Given the description of an element on the screen output the (x, y) to click on. 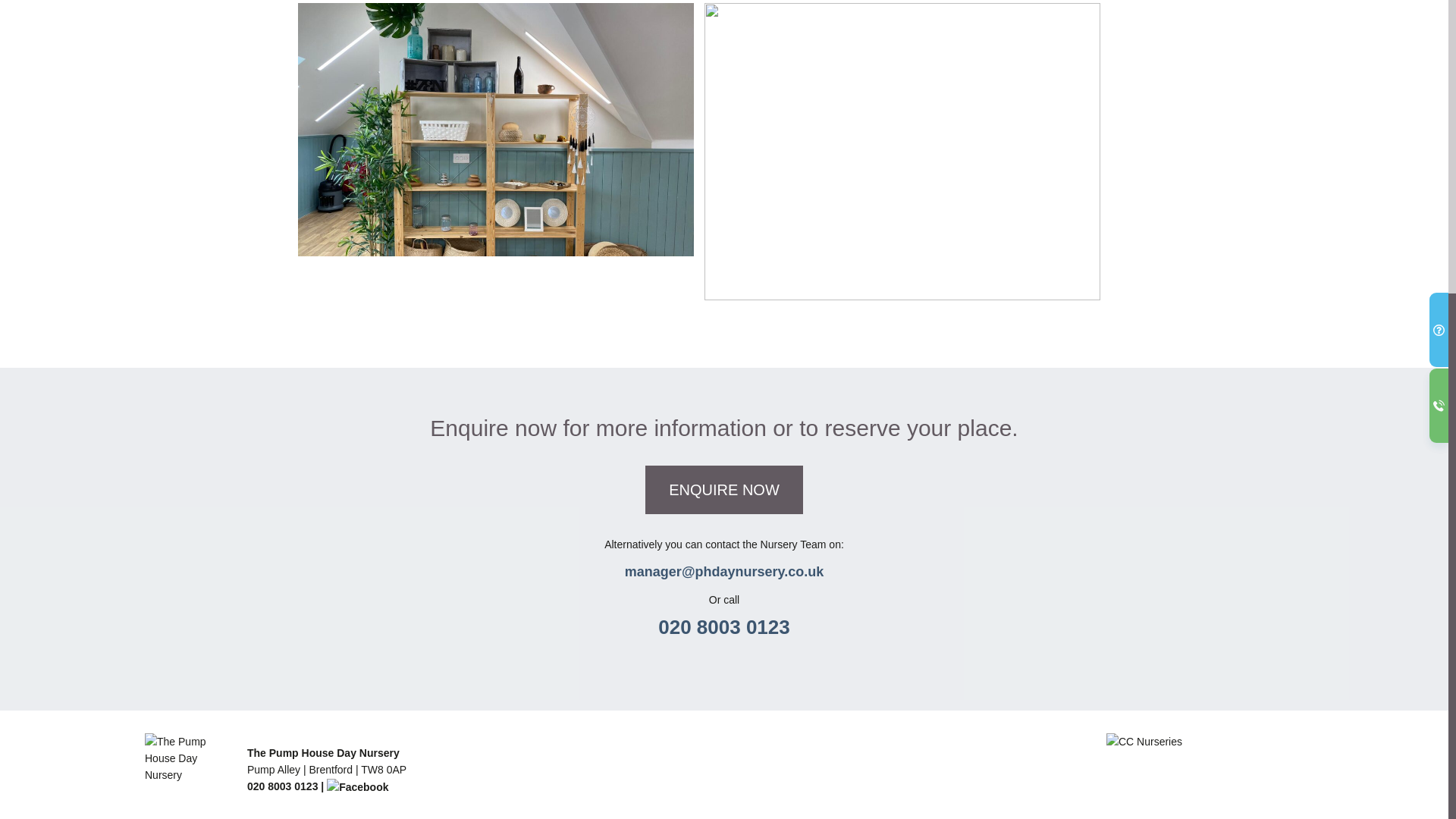
020 8003 0123 (282, 786)
ENQUIRE NOW (724, 490)
020 8003 0123 (724, 626)
